Given the description of an element on the screen output the (x, y) to click on. 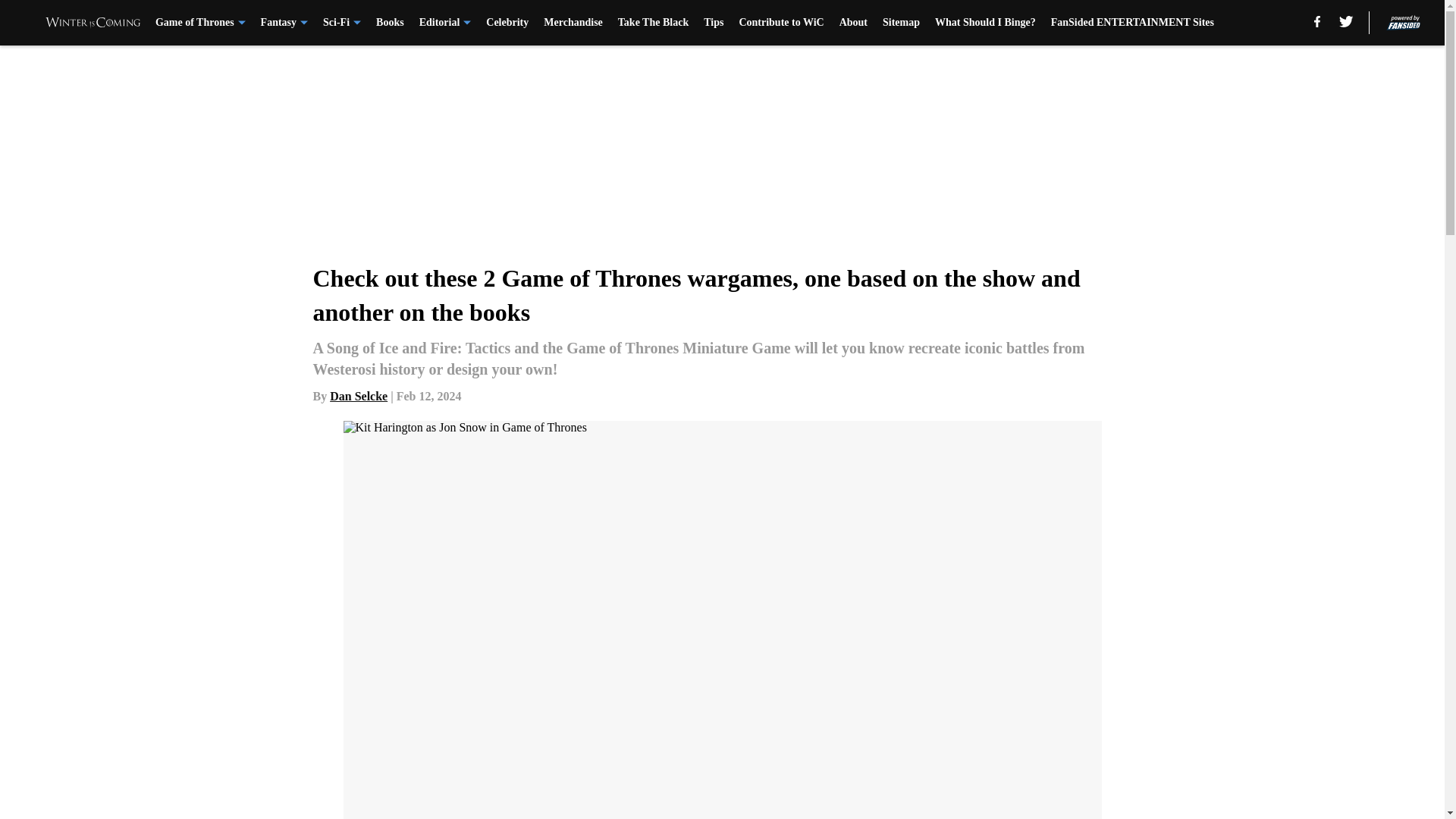
Books (389, 22)
Fantasy (283, 22)
Editorial (445, 22)
Game of Thrones (200, 22)
Celebrity (507, 22)
Sci-Fi (342, 22)
